Given the description of an element on the screen output the (x, y) to click on. 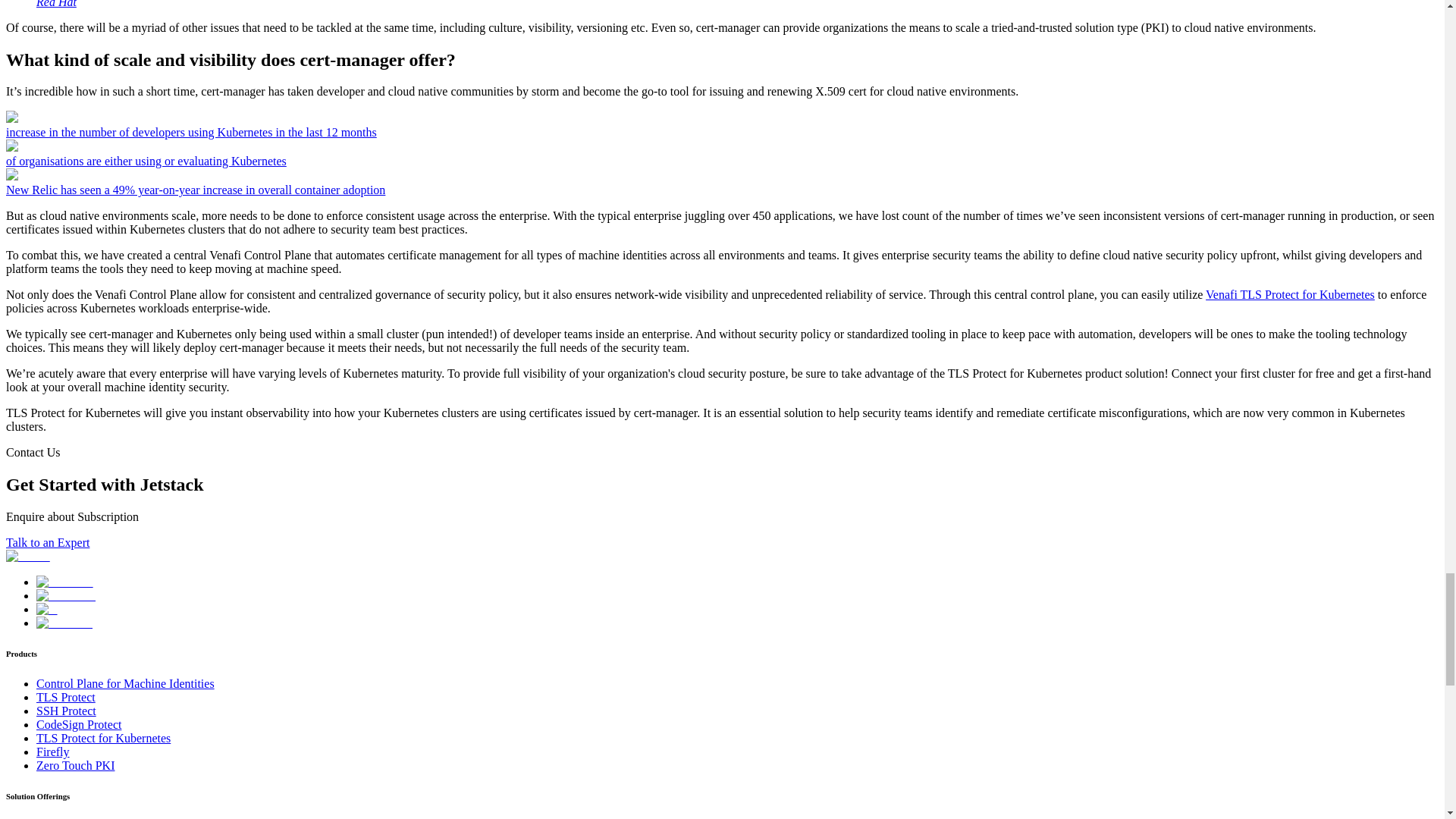
What is DevSecOps? (56, 4)
